Given the description of an element on the screen output the (x, y) to click on. 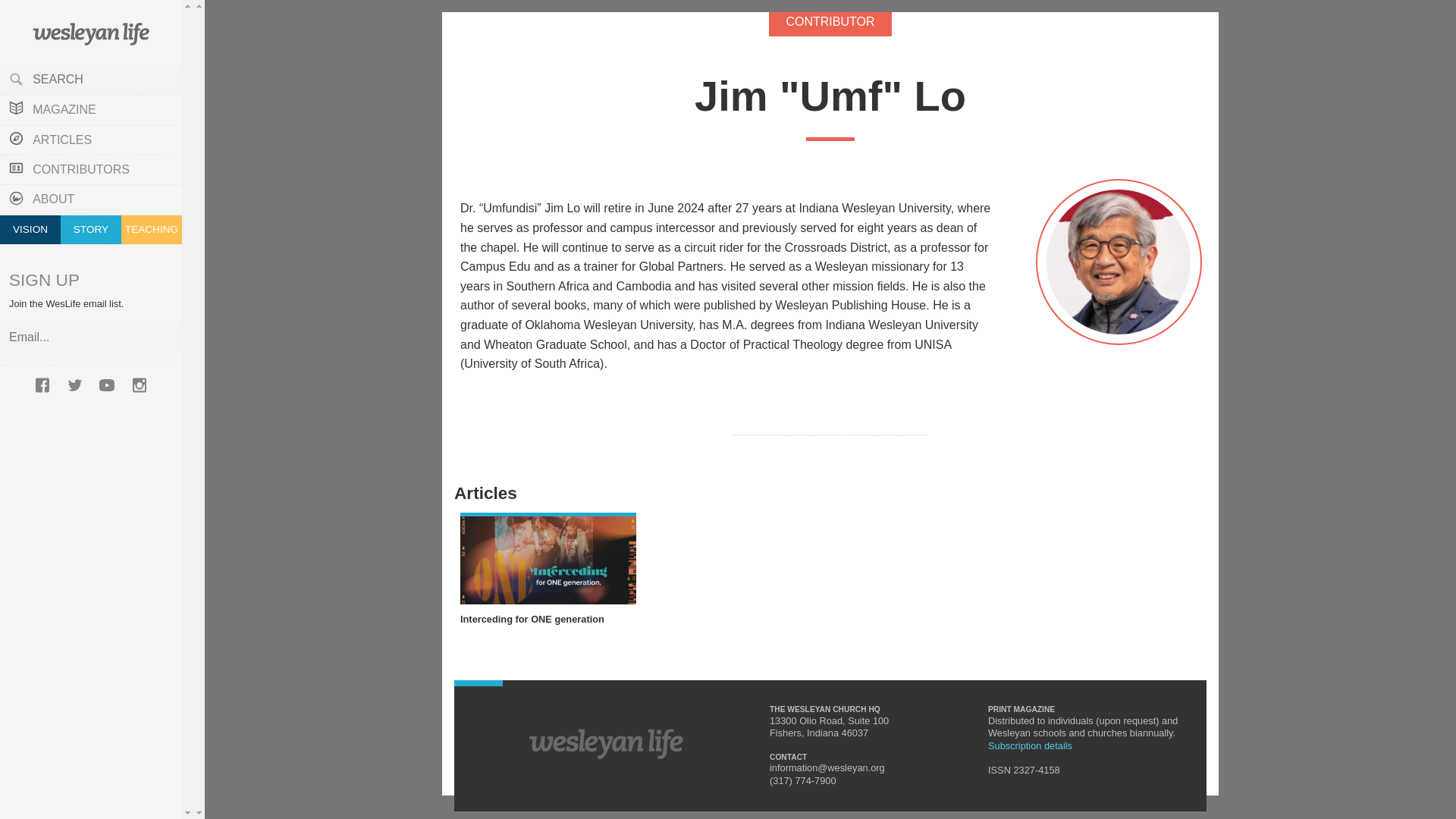
Interceding for ONE generation (548, 558)
MAGAZINE (91, 109)
Wesleyan Life (90, 33)
Twitter (73, 384)
CONTRIBUTORS (91, 169)
Facebook (41, 384)
ARTICLES (91, 140)
Interceding for ONE generation (548, 619)
ABOUT (91, 199)
TEACHING (151, 229)
Subscription details (1029, 745)
VISION (30, 229)
YouTube (106, 384)
Instagram (139, 384)
STORY (90, 229)
